Given the description of an element on the screen output the (x, y) to click on. 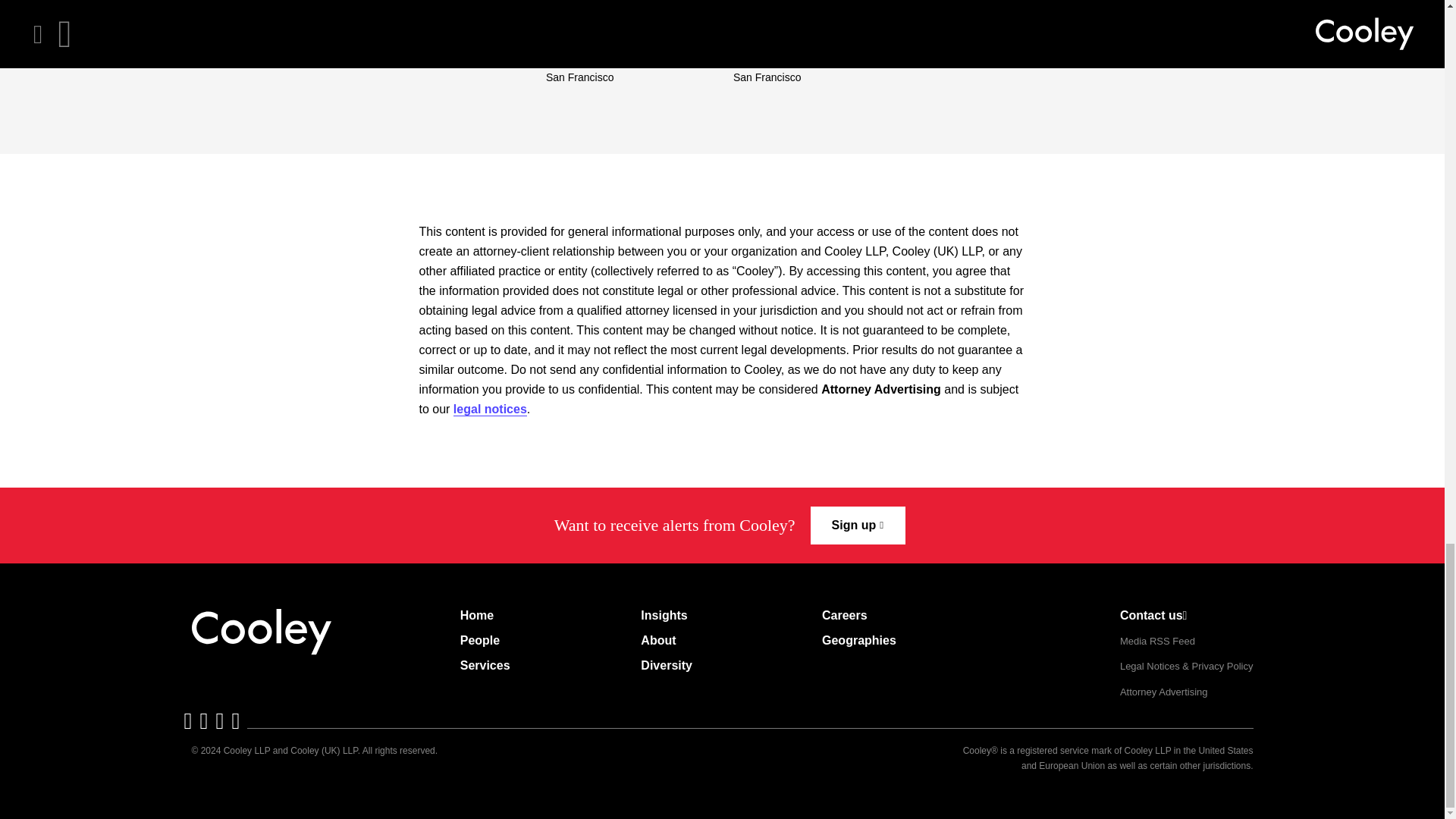
Peter H. Werner (788, 37)
Matthew Bartus (600, 37)
Sign up (857, 525)
Home (476, 615)
legal notices (489, 409)
People (479, 640)
Services (485, 665)
